Given the description of an element on the screen output the (x, y) to click on. 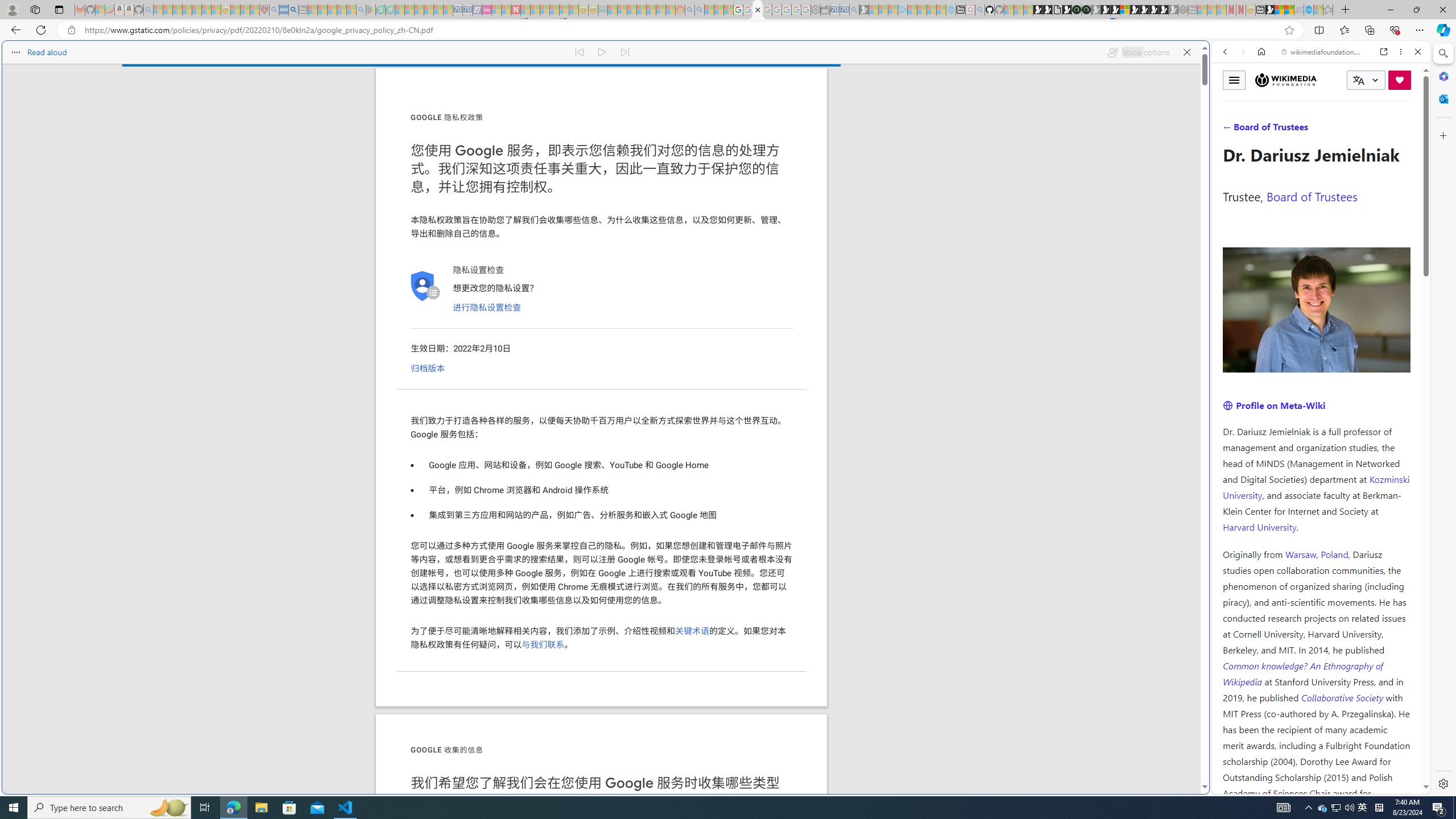
utah sues federal government - Search (292, 9)
Collaborative Society  (1343, 697)
